Given the description of an element on the screen output the (x, y) to click on. 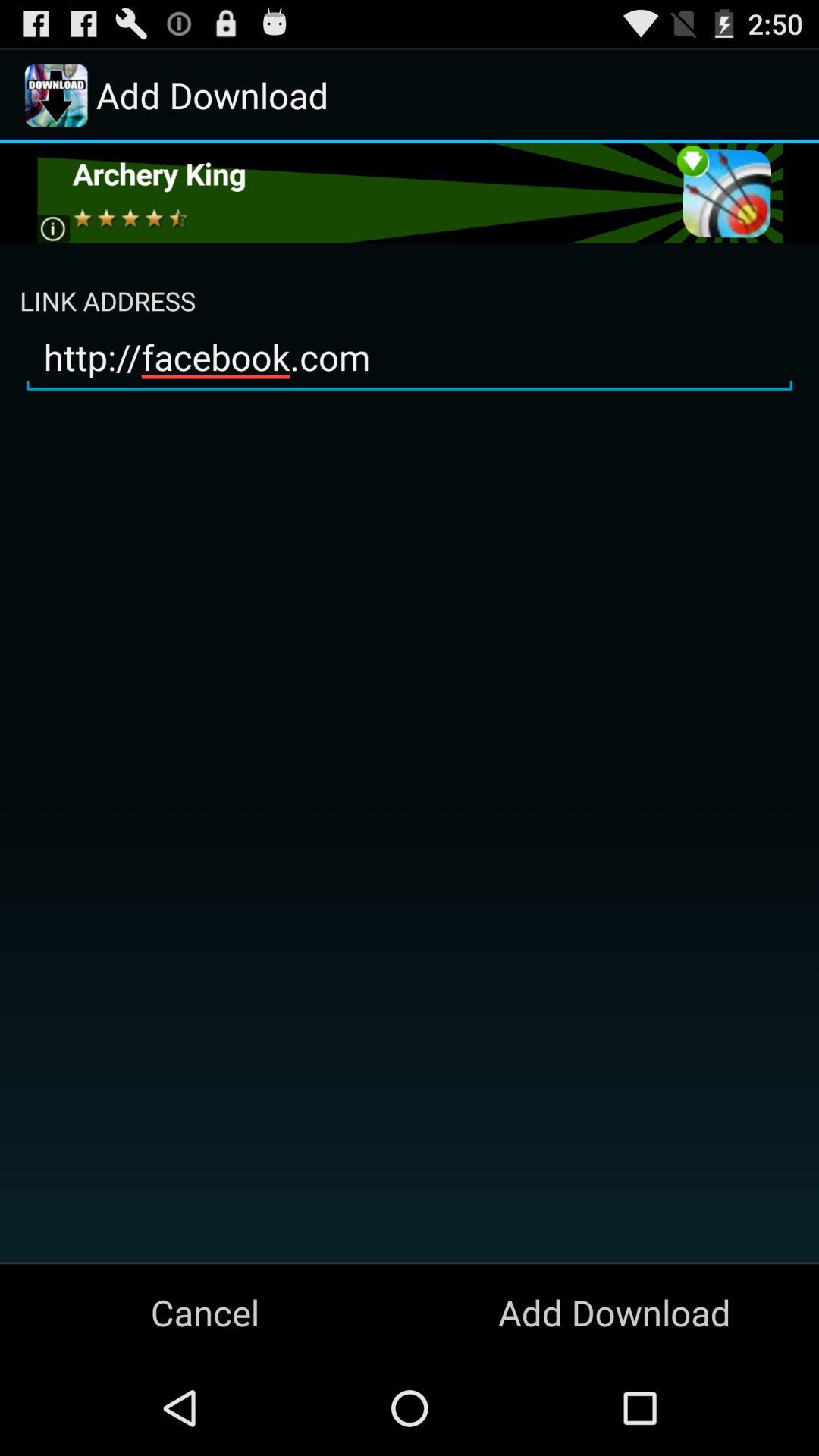
banner advertisement (408, 192)
